Given the description of an element on the screen output the (x, y) to click on. 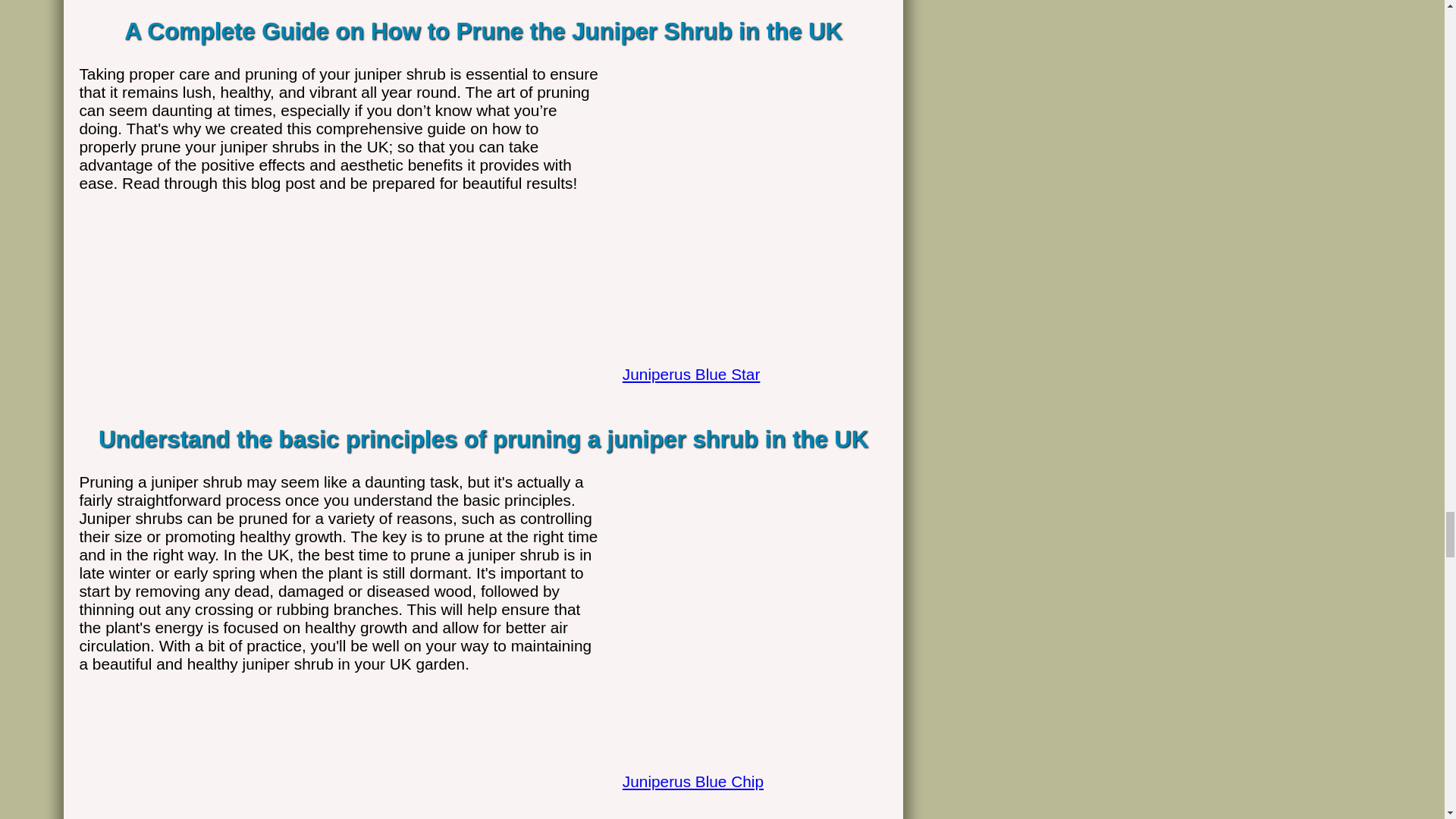
Juniperus Blue Chip (747, 765)
Juniperus Blue Star (747, 357)
